Given the description of an element on the screen output the (x, y) to click on. 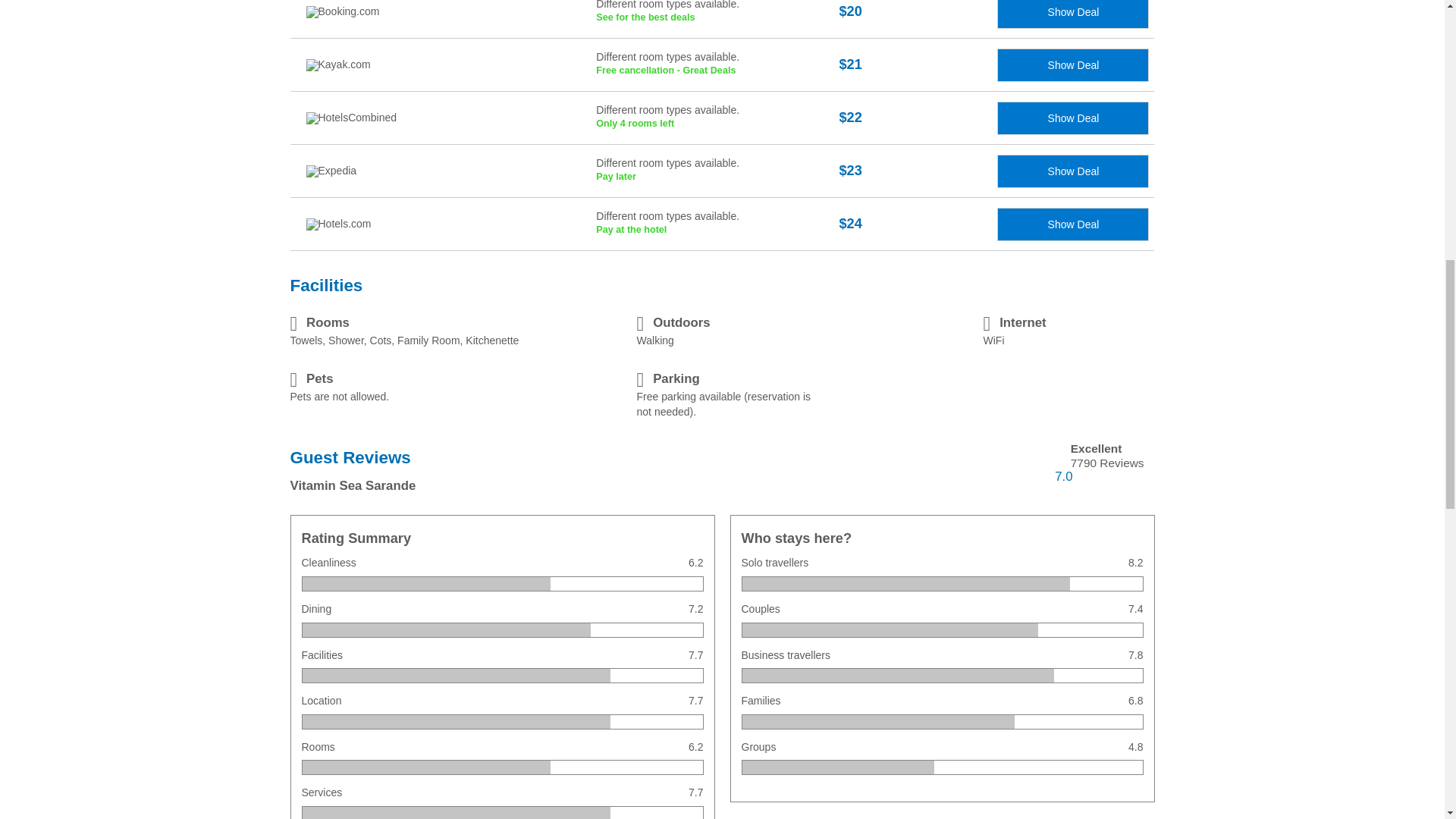
Show Deal (716, 19)
Show Deal (1072, 64)
Show Deal (716, 224)
Show Deal (1072, 171)
